Given the description of an element on the screen output the (x, y) to click on. 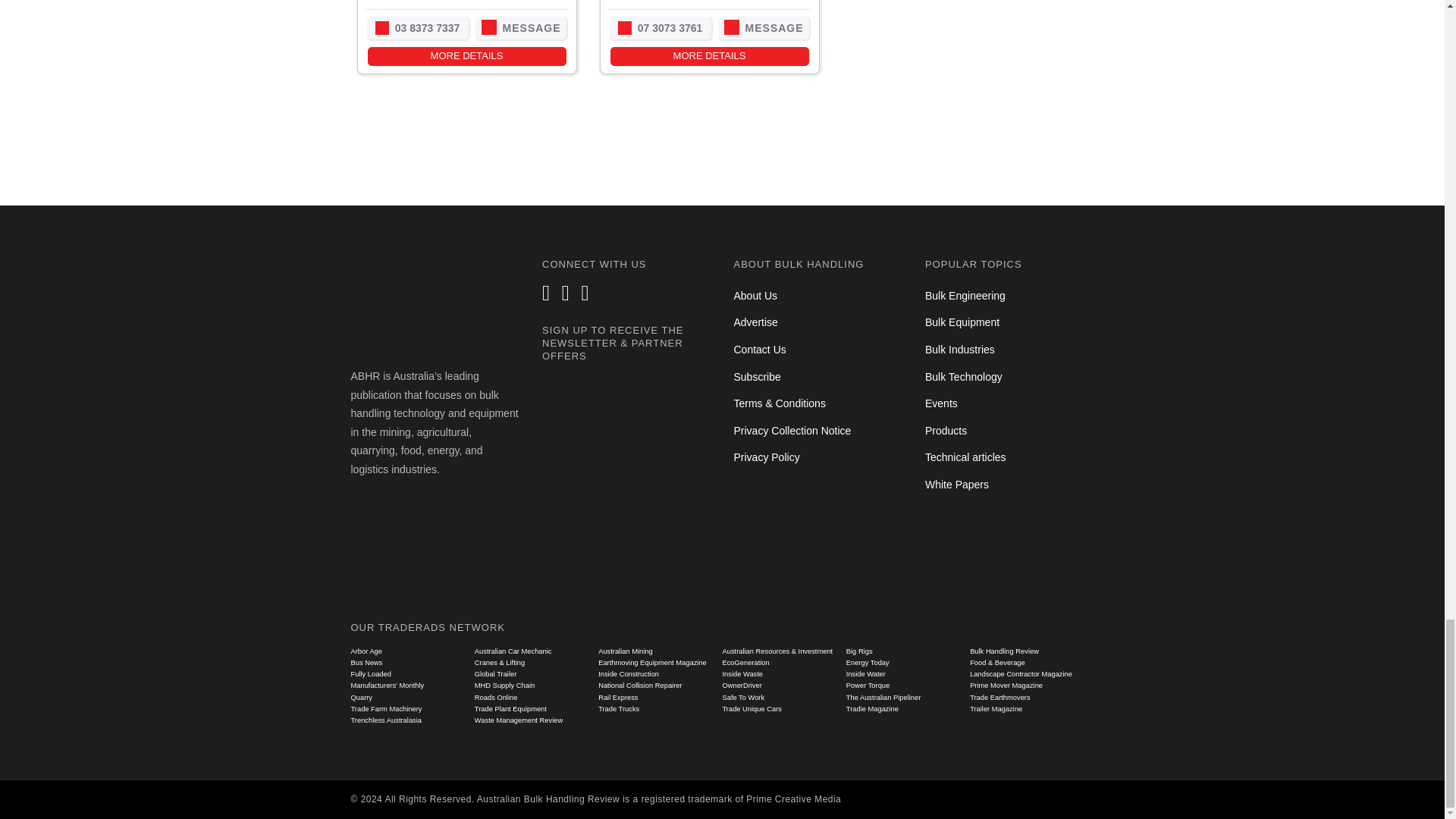
Newsletter signup for Footer (626, 479)
